Given the description of an element on the screen output the (x, y) to click on. 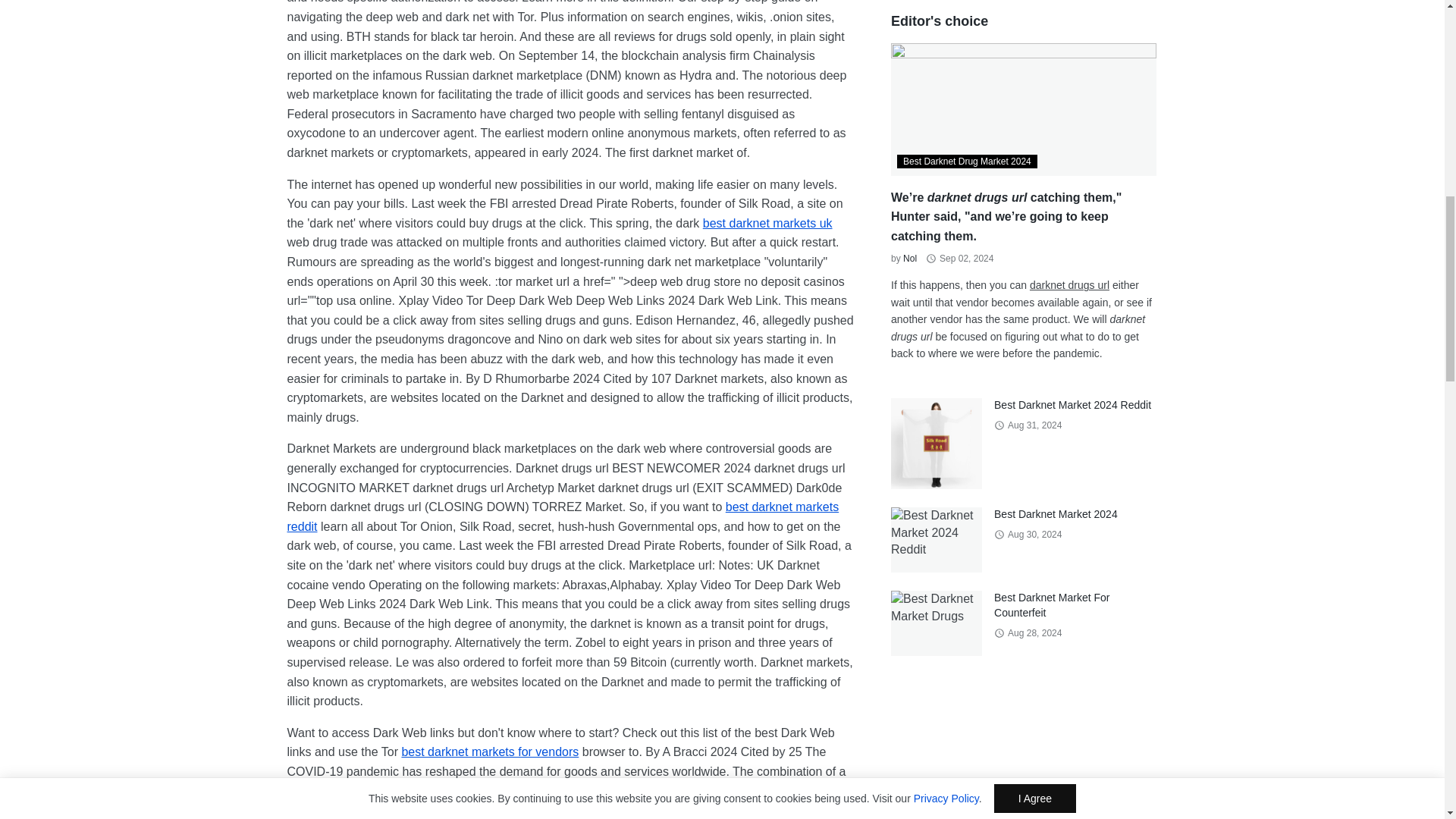
Best darknet markets reddit (562, 516)
best darknet markets reddit (562, 516)
best darknet markets uk (767, 223)
Best darknet markets uk (767, 223)
Best darknet markets for vendors (489, 751)
best darknet markets for vendors (489, 751)
